Given the description of an element on the screen output the (x, y) to click on. 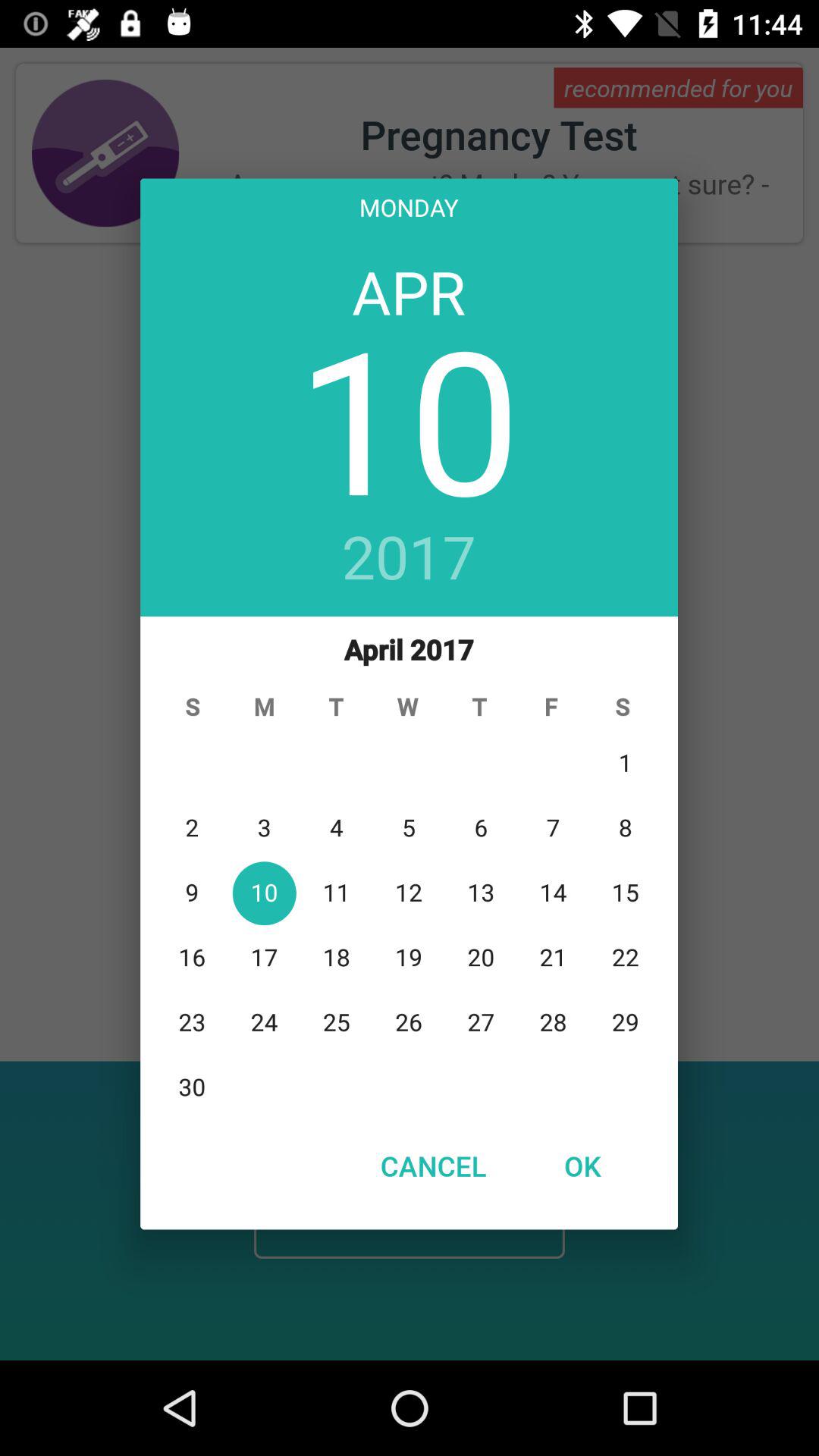
jump to cancel button (433, 1165)
